Given the description of an element on the screen output the (x, y) to click on. 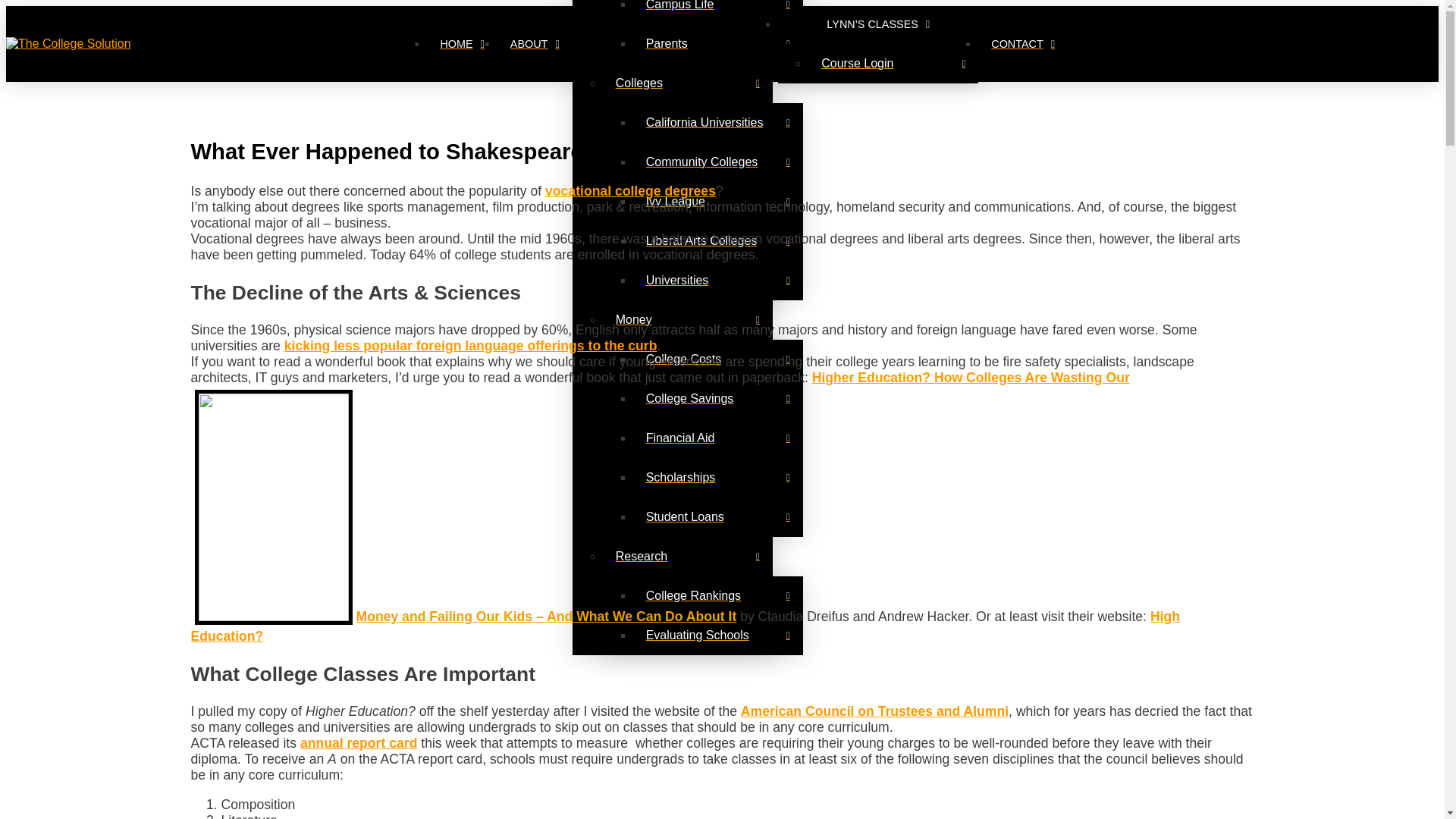
Community Colleges (718, 161)
College Savings (718, 398)
Liberal Arts Colleges (718, 241)
Financial Aid (718, 437)
vocational college degrees (630, 191)
Scholarships (718, 477)
College Costs (718, 359)
Evaluating Schools (718, 635)
Money (687, 319)
Student Loans (718, 517)
